Given the description of an element on the screen output the (x, y) to click on. 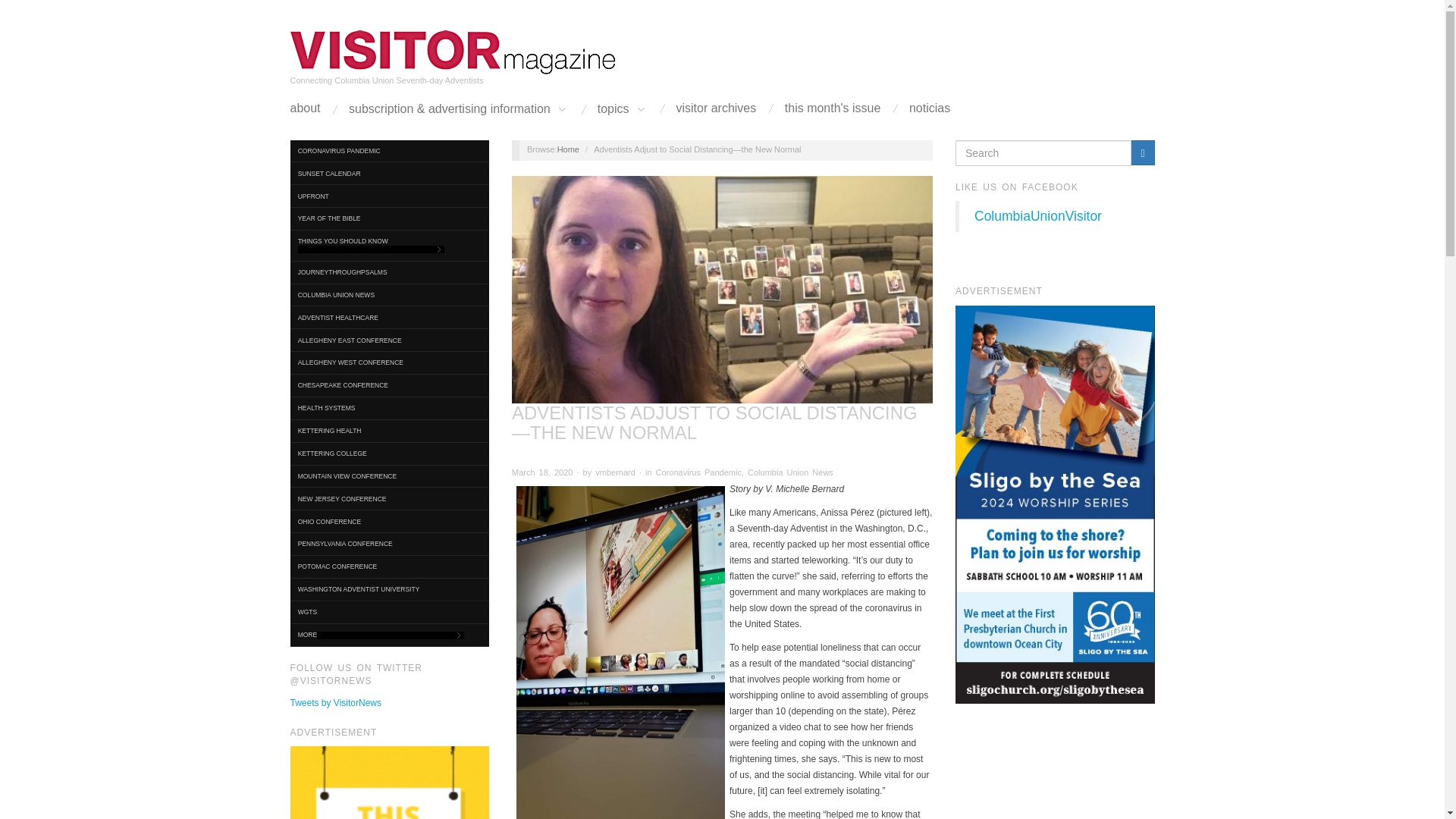
visitor archives (717, 107)
CORONAVIRUS PANDEMIC (389, 150)
SUNSET CALENDAR (389, 173)
noticias (929, 107)
Home (452, 52)
topics (621, 109)
about (304, 107)
YEAR OF THE BIBLE (389, 219)
THINGS YOU SHOULD KNOW (389, 245)
